Given the description of an element on the screen output the (x, y) to click on. 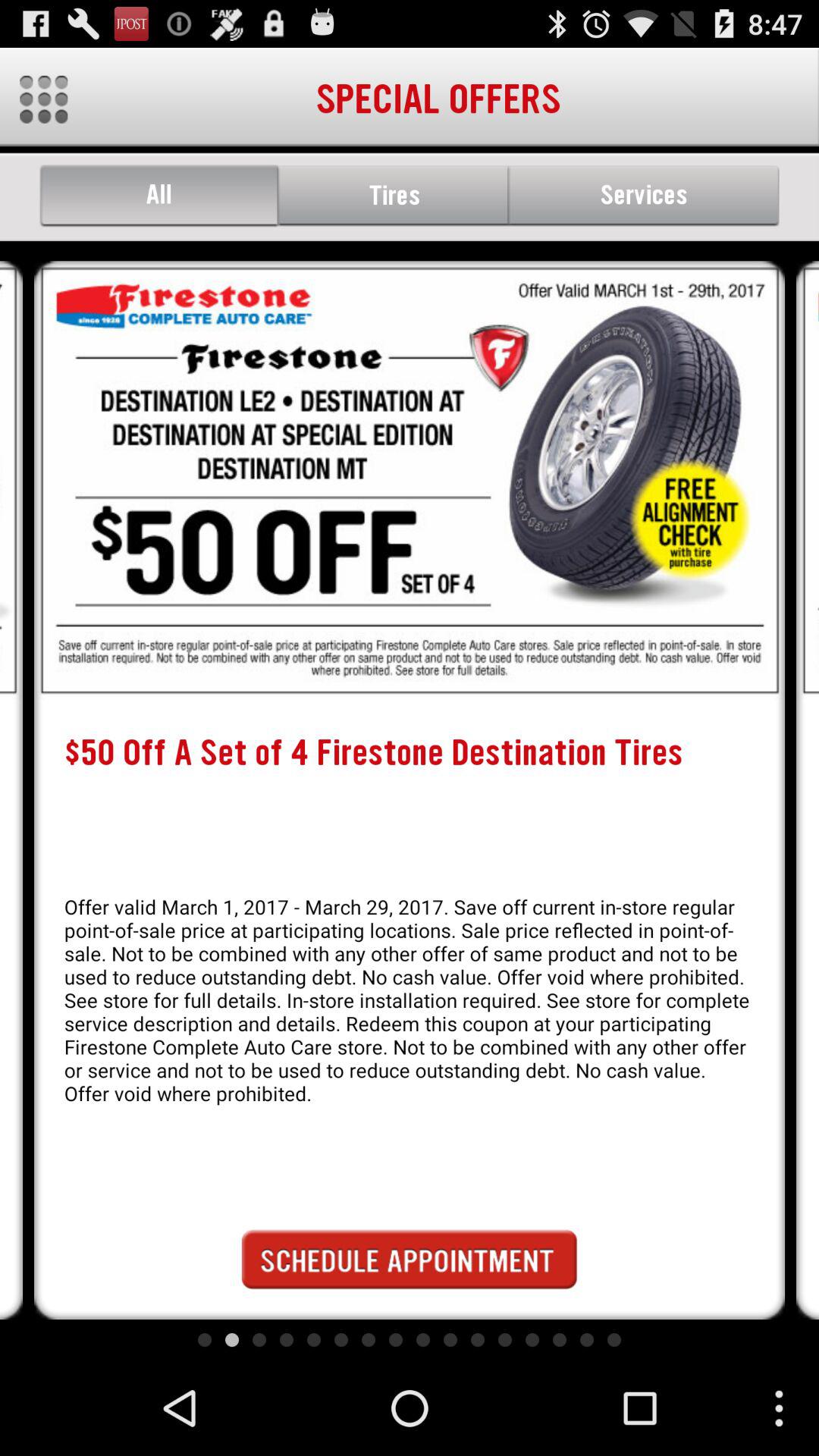
click on the schedule appointment (409, 1259)
select the icon which is to the left of special offers (43, 99)
